Given the description of an element on the screen output the (x, y) to click on. 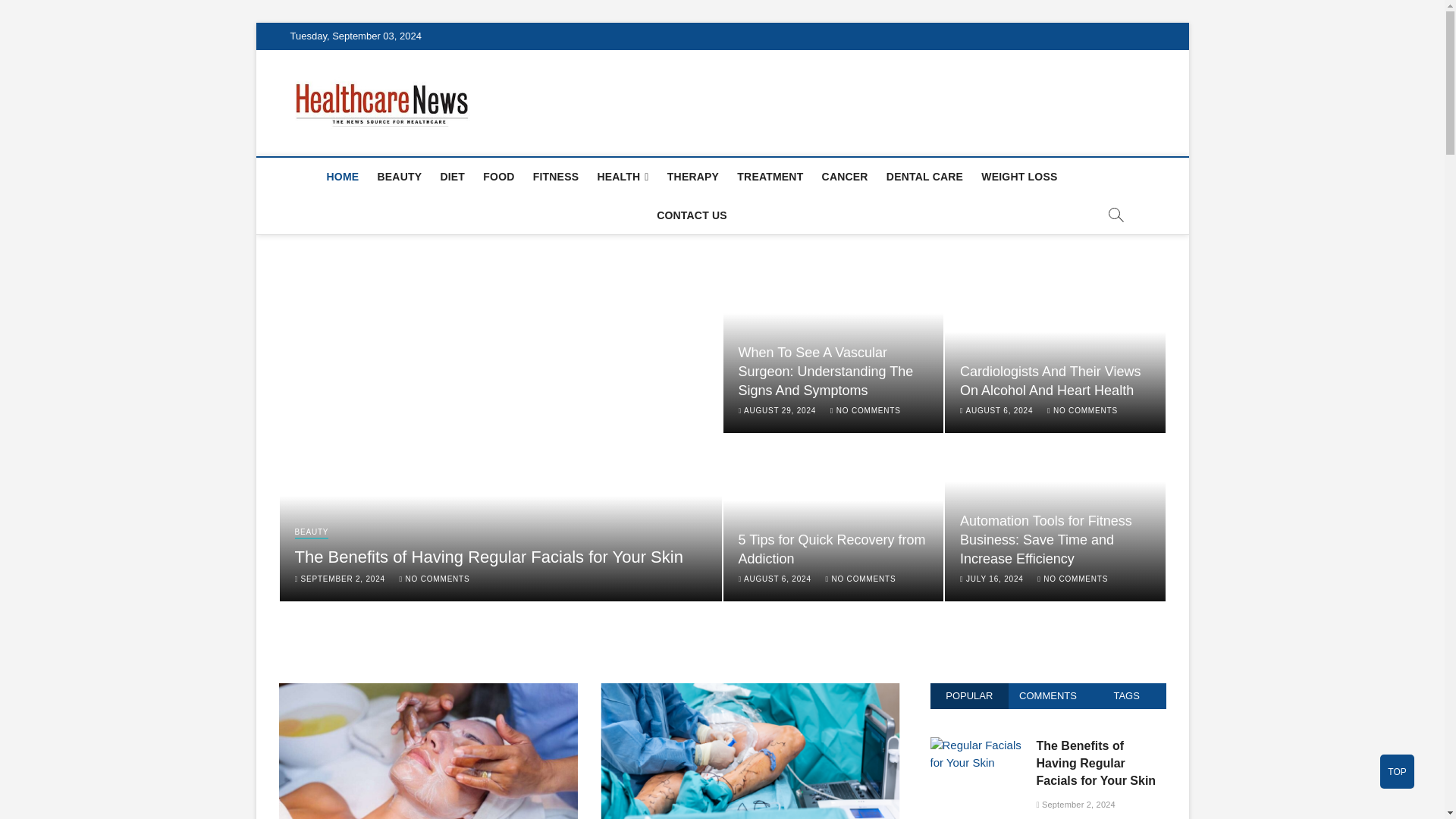
August 29, 2024 (777, 410)
The Benefits of Having Regular Facials for Your Skin (488, 556)
DENTAL CARE (925, 176)
CONTACT US (692, 215)
September 2, 2024 (339, 578)
NO COMMENTS (434, 578)
BEAUTY (399, 176)
Cardiologists And Their Views On Alcohol And Heart Health (1049, 380)
The Benefits of Having Regular Facials for Your Skin (488, 556)
